Given the description of an element on the screen output the (x, y) to click on. 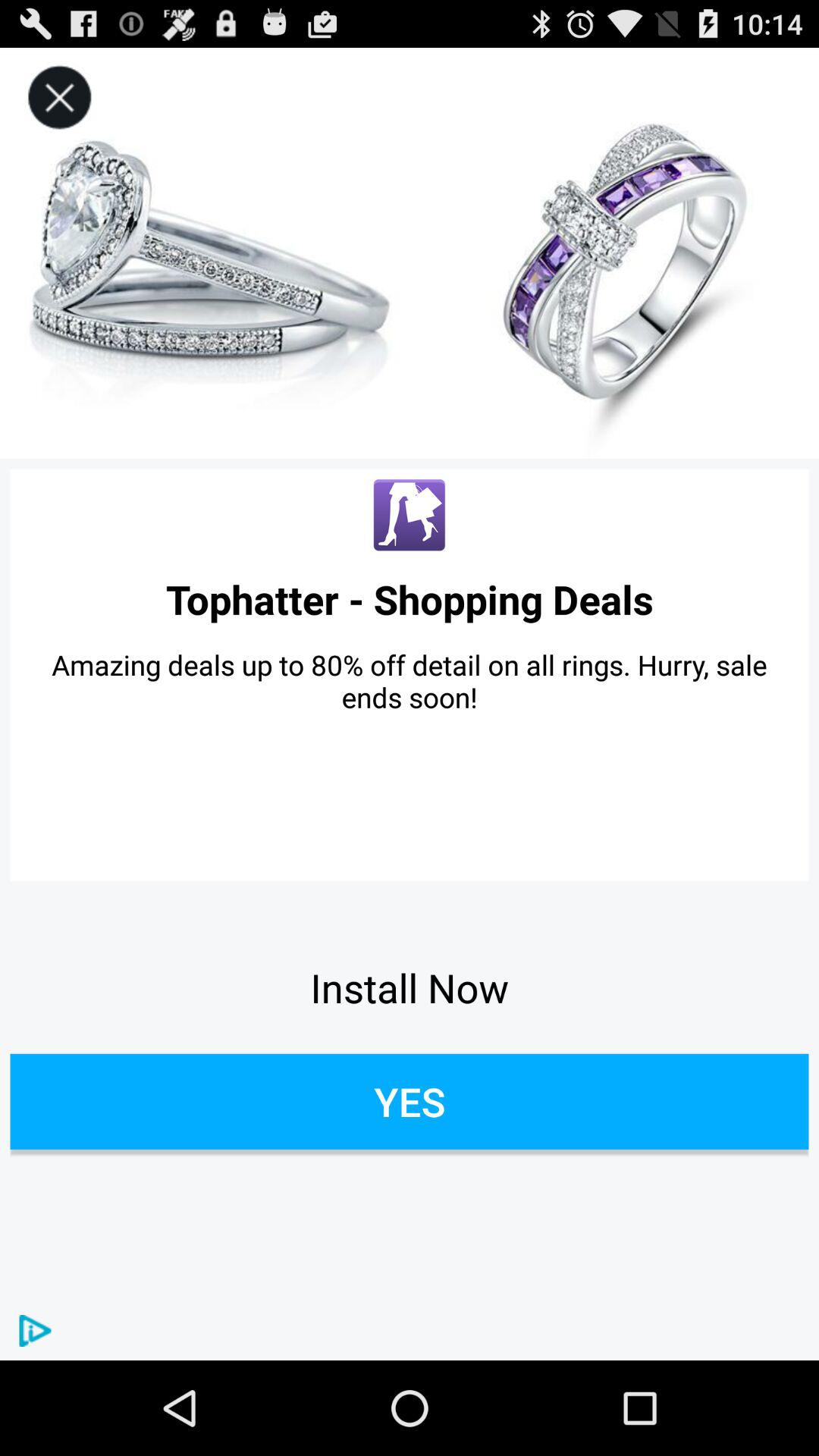
tap the icon below amazing deals up (409, 987)
